Given the description of an element on the screen output the (x, y) to click on. 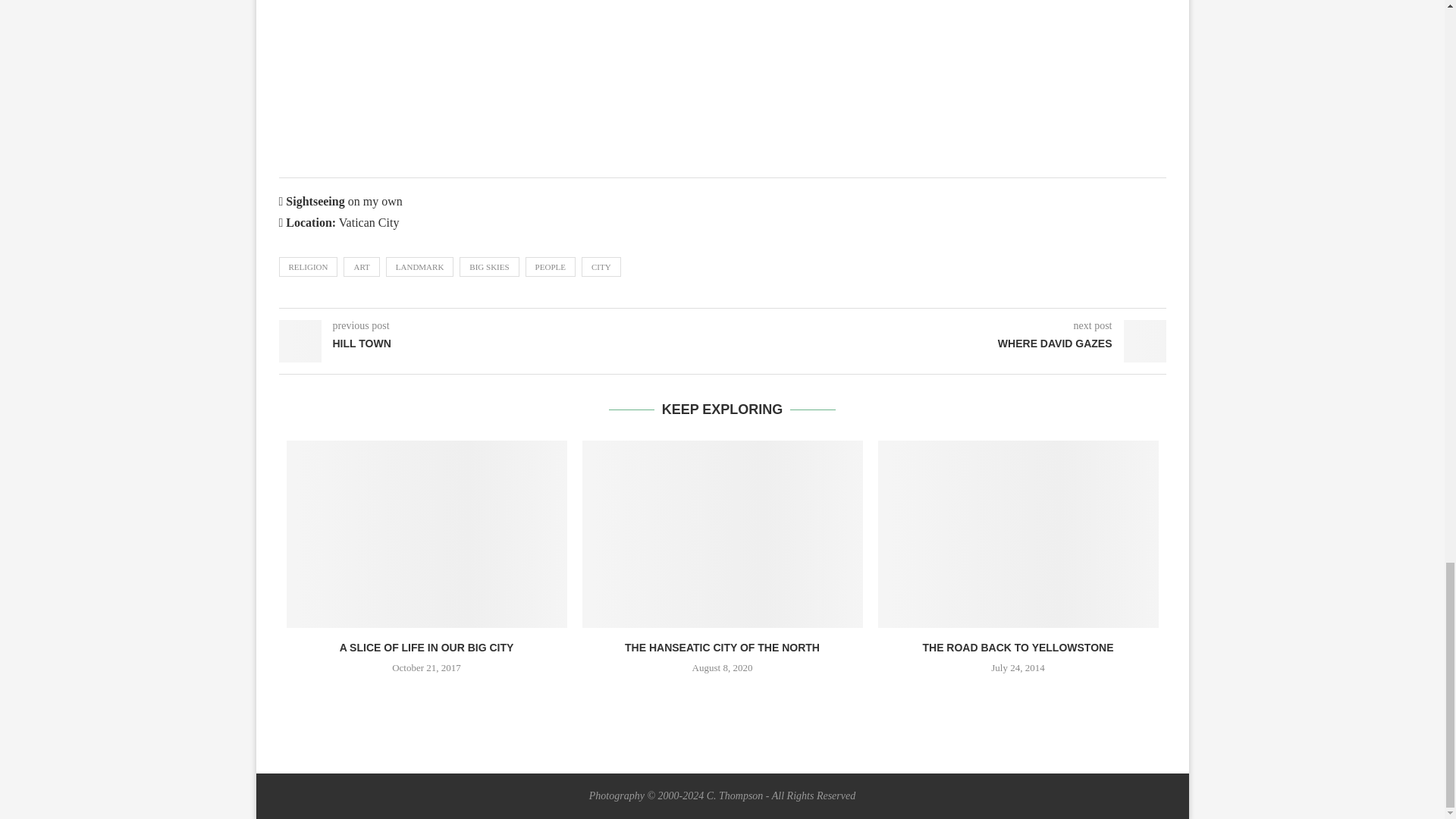
The Hanseatic City of the North (722, 534)
ART (360, 266)
A Slice of Life in our Big City (426, 534)
CITY (600, 266)
WHERE DAVID GAZES (944, 344)
HILL TOWN (500, 344)
BIG SKIES (489, 266)
The Road Back to Yellowstone (1017, 534)
PEOPLE (550, 266)
LANDMARK (419, 266)
